Given the description of an element on the screen output the (x, y) to click on. 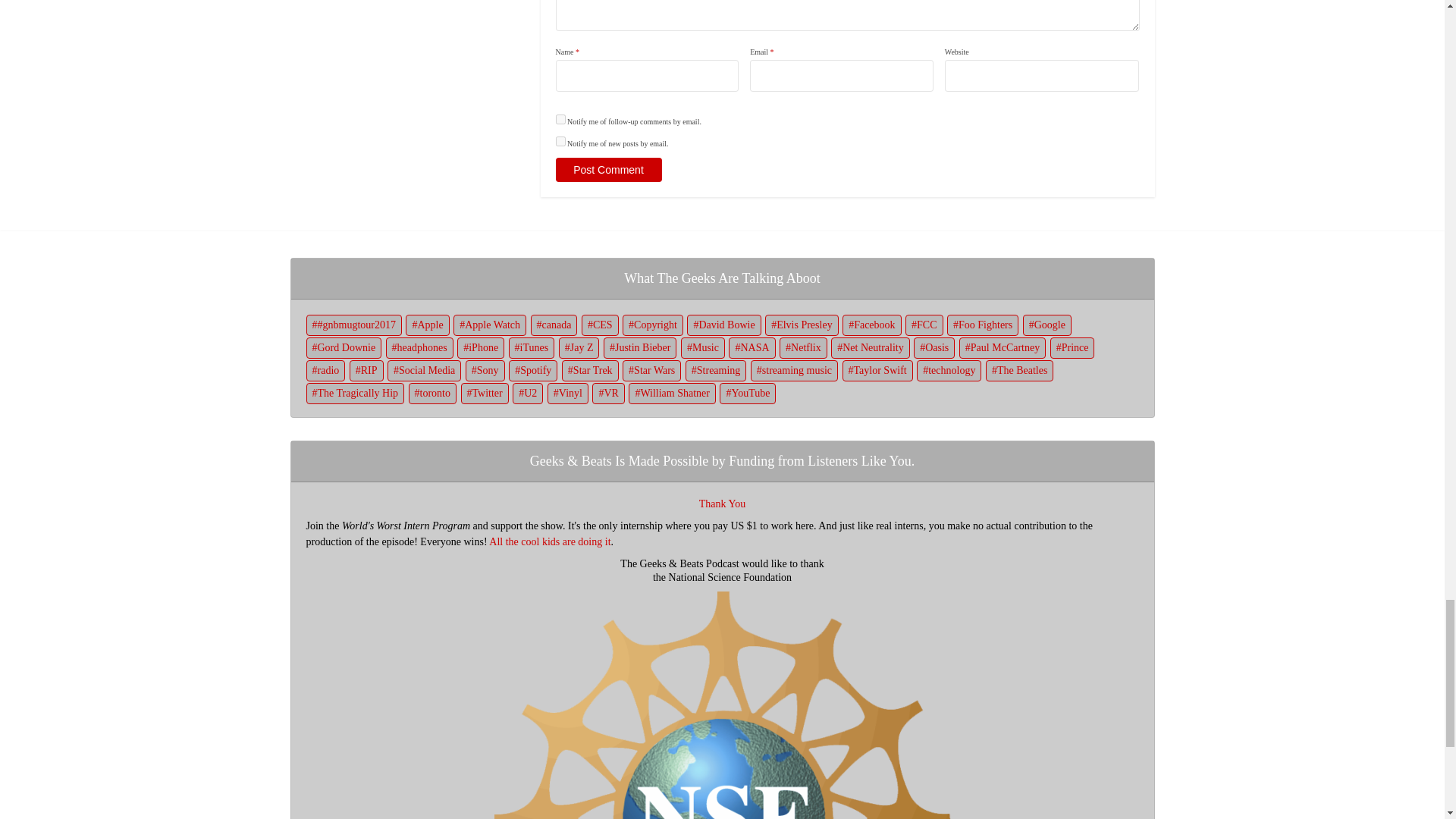
subscribe (559, 141)
Post Comment (607, 169)
subscribe (559, 119)
